Given the description of an element on the screen output the (x, y) to click on. 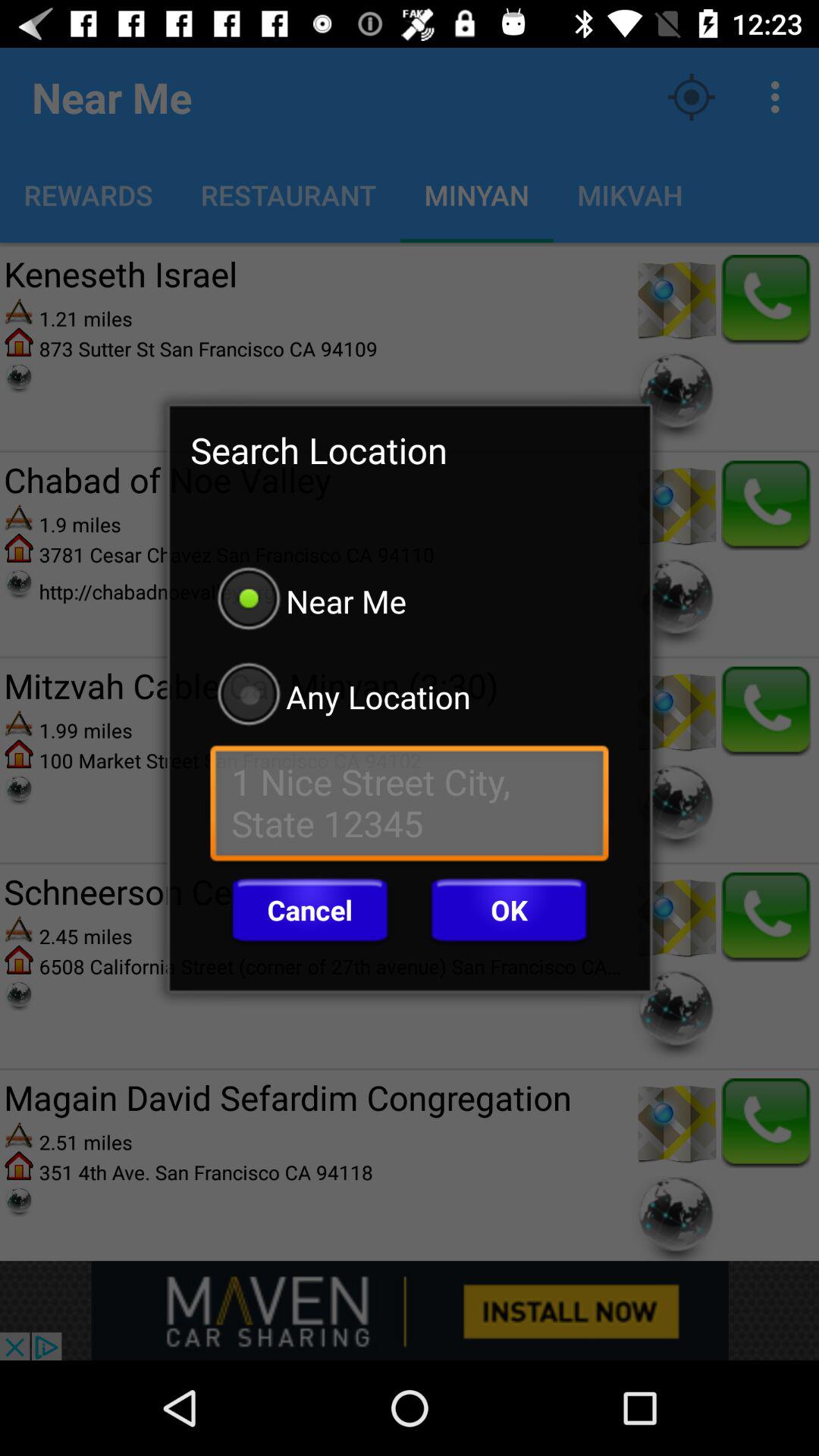
turn off any location radio button (409, 696)
